Given the description of an element on the screen output the (x, y) to click on. 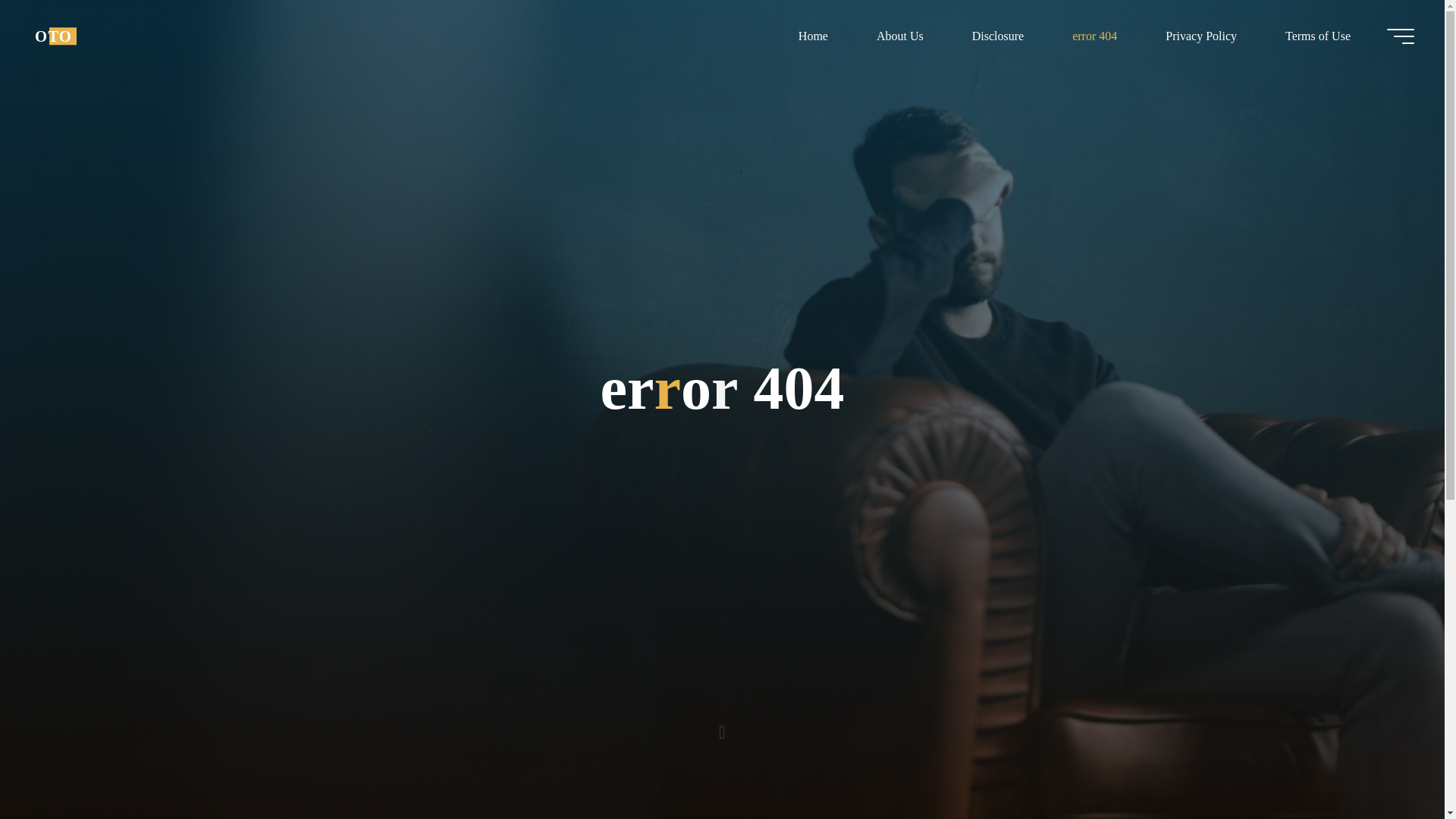
Home (812, 35)
Read more (721, 724)
error 404 (1094, 35)
Privacy Policy (1200, 35)
Terms of Use (1317, 35)
Disclosure (997, 35)
OTO (53, 36)
About Us (899, 35)
